Given the description of an element on the screen output the (x, y) to click on. 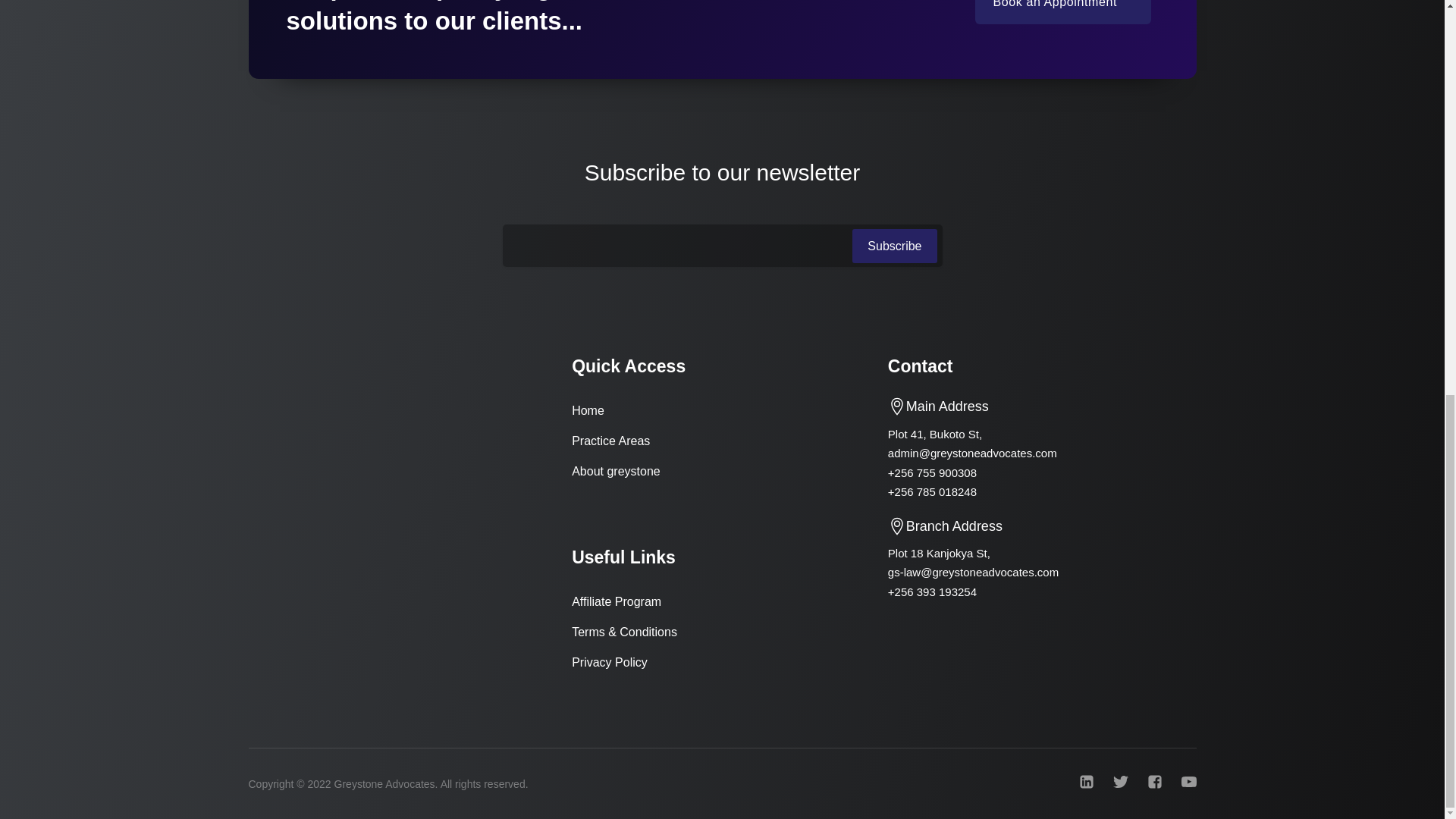
Greystone Advocates, Bukoto Street, Kampala, Uganda (400, 502)
